Given the description of an element on the screen output the (x, y) to click on. 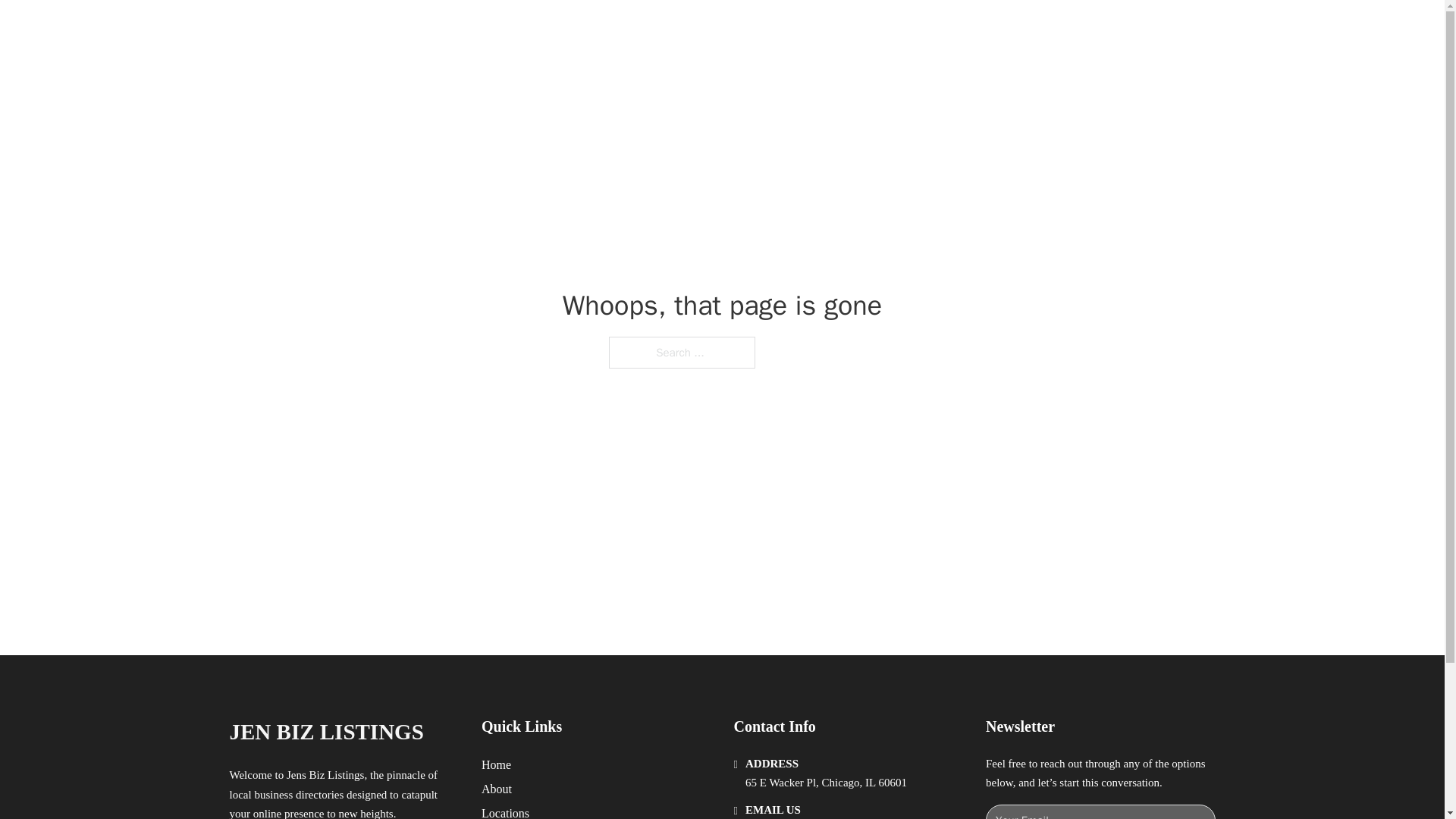
Locations (505, 811)
LOCATIONS (990, 29)
About (496, 788)
Home (496, 764)
JENS BIZ LISTINGS (405, 28)
JEN BIZ LISTINGS (325, 732)
HOME (919, 29)
